Given the description of an element on the screen output the (x, y) to click on. 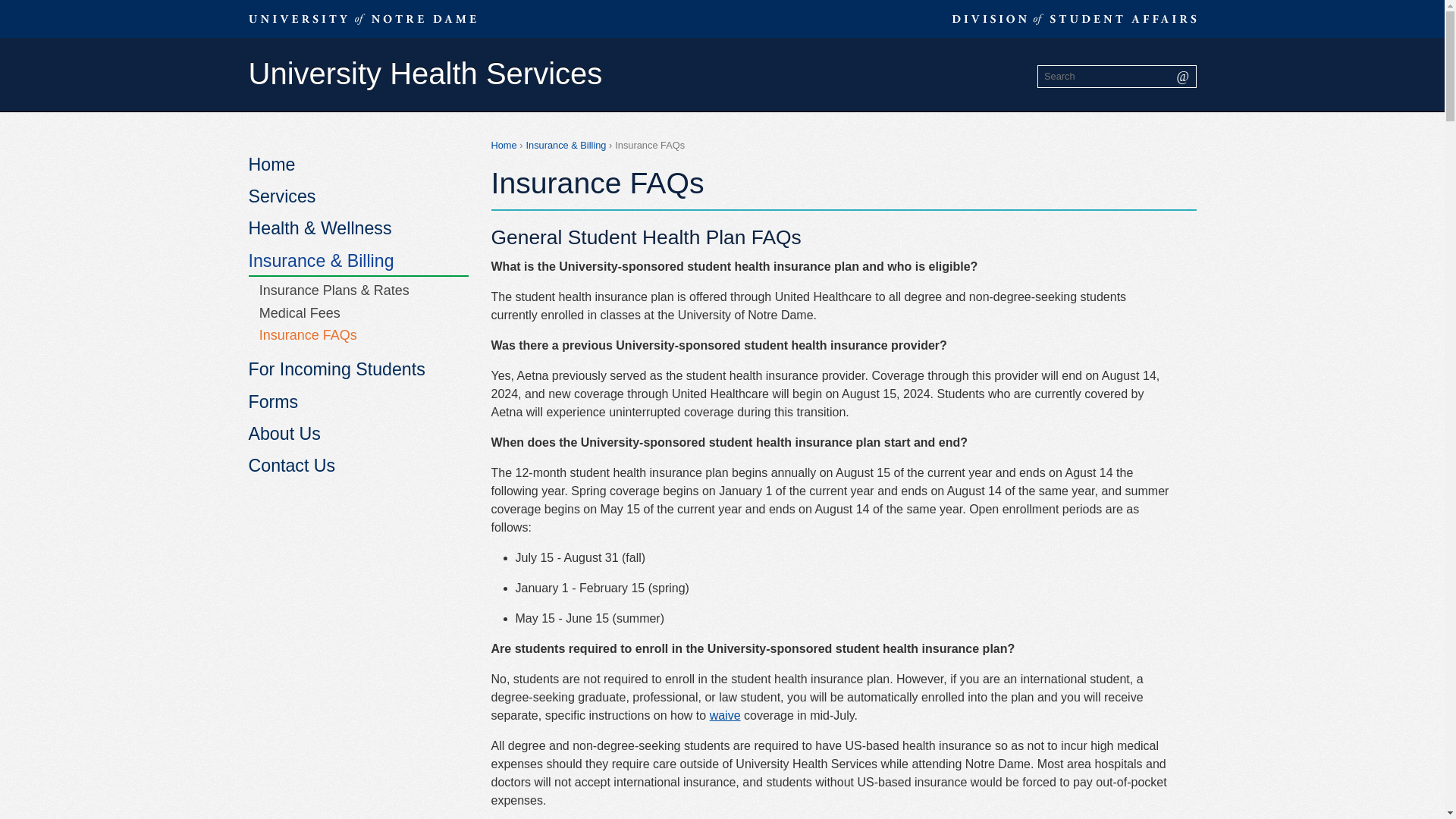
Search (1183, 76)
Home (504, 144)
Services (358, 197)
waive (725, 715)
University Notre Dame (362, 18)
Home (358, 165)
Office Student Affairs (1074, 18)
University Health Services (425, 74)
